Given the description of an element on the screen output the (x, y) to click on. 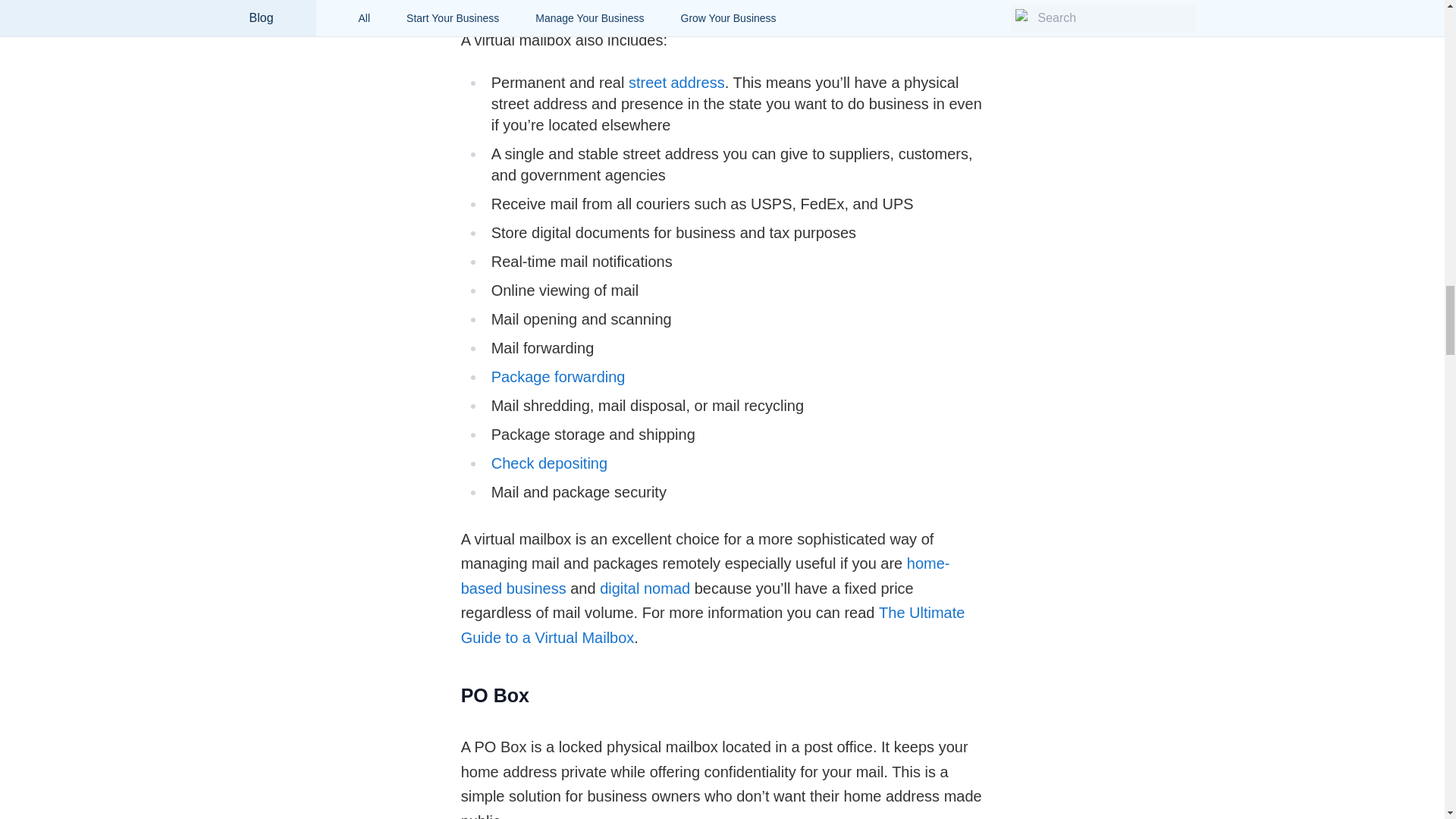
digital nomad (644, 588)
Package forwarding (559, 376)
The Ultimate Guide to a Virtual Mailbox (713, 625)
home-based business (705, 576)
street address (676, 82)
Check depositing (549, 463)
